Given the description of an element on the screen output the (x, y) to click on. 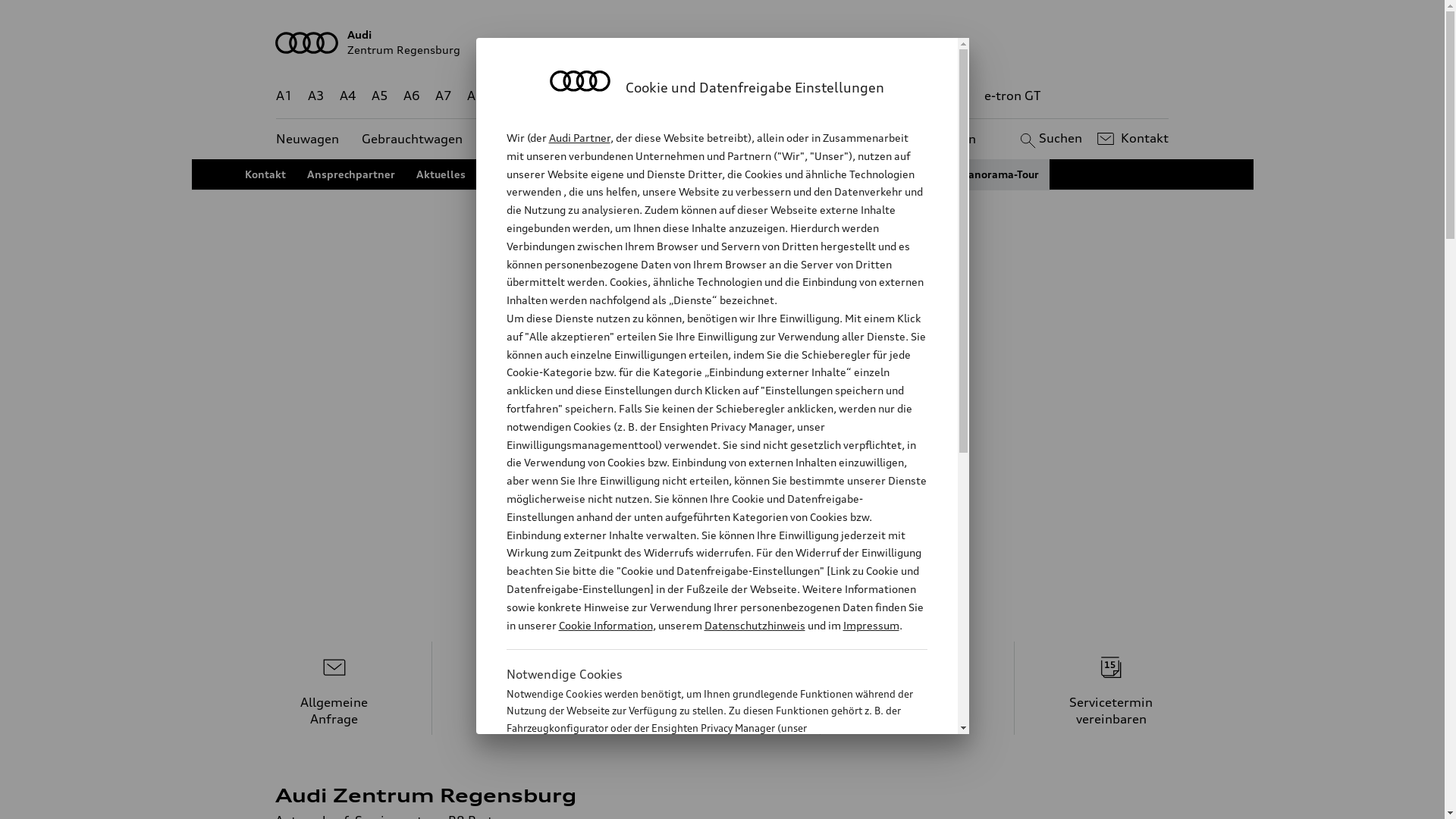
A7 Element type: text (443, 95)
Online Shops Element type: text (842, 174)
TT Element type: text (814, 95)
Q7 Element type: text (678, 95)
Allgemeine
Anfrage Element type: text (333, 687)
Angebote Element type: text (636, 139)
A6 Element type: text (411, 95)
Probefahrt
vereinbaren Element type: text (528, 687)
Panorama-Tour Element type: text (999, 174)
g-tron Element type: text (950, 95)
Q2 Element type: text (507, 95)
RS Element type: text (908, 95)
Aktuelles Element type: text (439, 174)
Servicetermin
vereinbaren Element type: text (1111, 687)
Serviceberater
kontaktieren Element type: text (917, 687)
Audi Partner Element type: text (579, 137)
Veranstaltungen Element type: text (743, 174)
Q5 Element type: text (645, 95)
A3 Element type: text (315, 95)
A8 Element type: text (475, 95)
Verkaufsberater
kontaktieren Element type: text (722, 687)
Kontakt Element type: text (1130, 138)
Gebrauchtwagen Element type: text (411, 139)
e-tron GT Element type: text (1012, 95)
Cookie Information Element type: text (605, 624)
Cookie Information Element type: text (700, 802)
Ansprechpartner Element type: text (349, 174)
R8 Element type: text (861, 95)
Neuwagen Element type: text (307, 139)
Suchen Element type: text (1049, 138)
Q8 Element type: text (710, 95)
Datenschutzhinweis Element type: text (753, 624)
A1 Element type: text (284, 95)
Karriere Element type: text (918, 174)
A4 Element type: text (347, 95)
Kundenservice Element type: text (730, 139)
A5 Element type: text (379, 95)
Q3 Element type: text (540, 95)
Kontakt Element type: text (264, 174)
Audi
Zentrum Regensburg Element type: text (722, 42)
Q4 e-tron Element type: text (592, 95)
Auszeichnungen Element type: text (637, 174)
Audi quattro Cup Element type: text (530, 174)
Q8 e-tron Element type: text (763, 95)
Impressum Element type: text (871, 624)
